Given the description of an element on the screen output the (x, y) to click on. 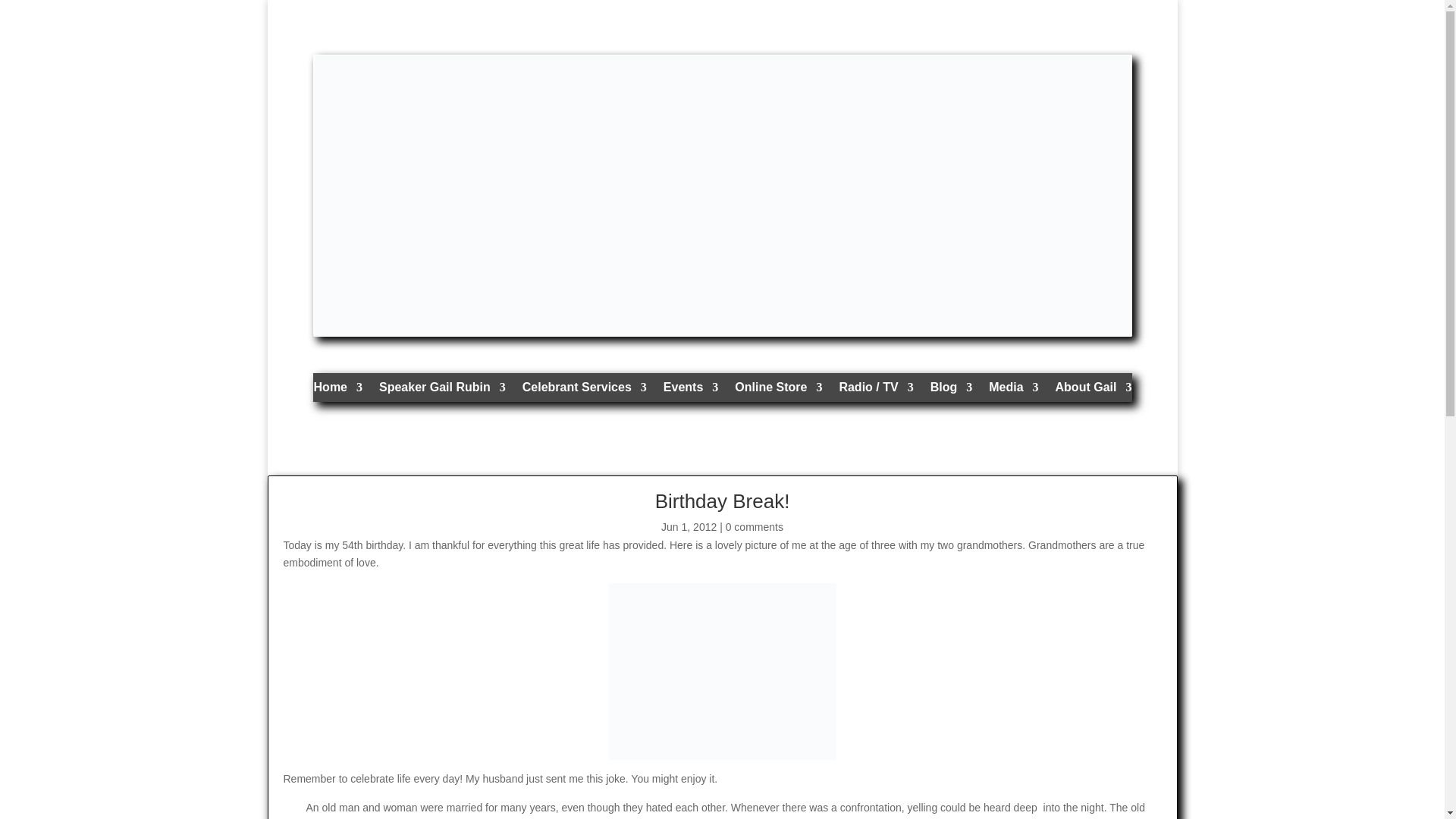
Blog (951, 390)
Events (690, 390)
Online Store (778, 390)
Funeral Services (584, 390)
Media (1013, 390)
Speaker Gail Rubin (441, 390)
Home (338, 390)
About Gail (1093, 390)
Celebrant Services (584, 390)
